Given the description of an element on the screen output the (x, y) to click on. 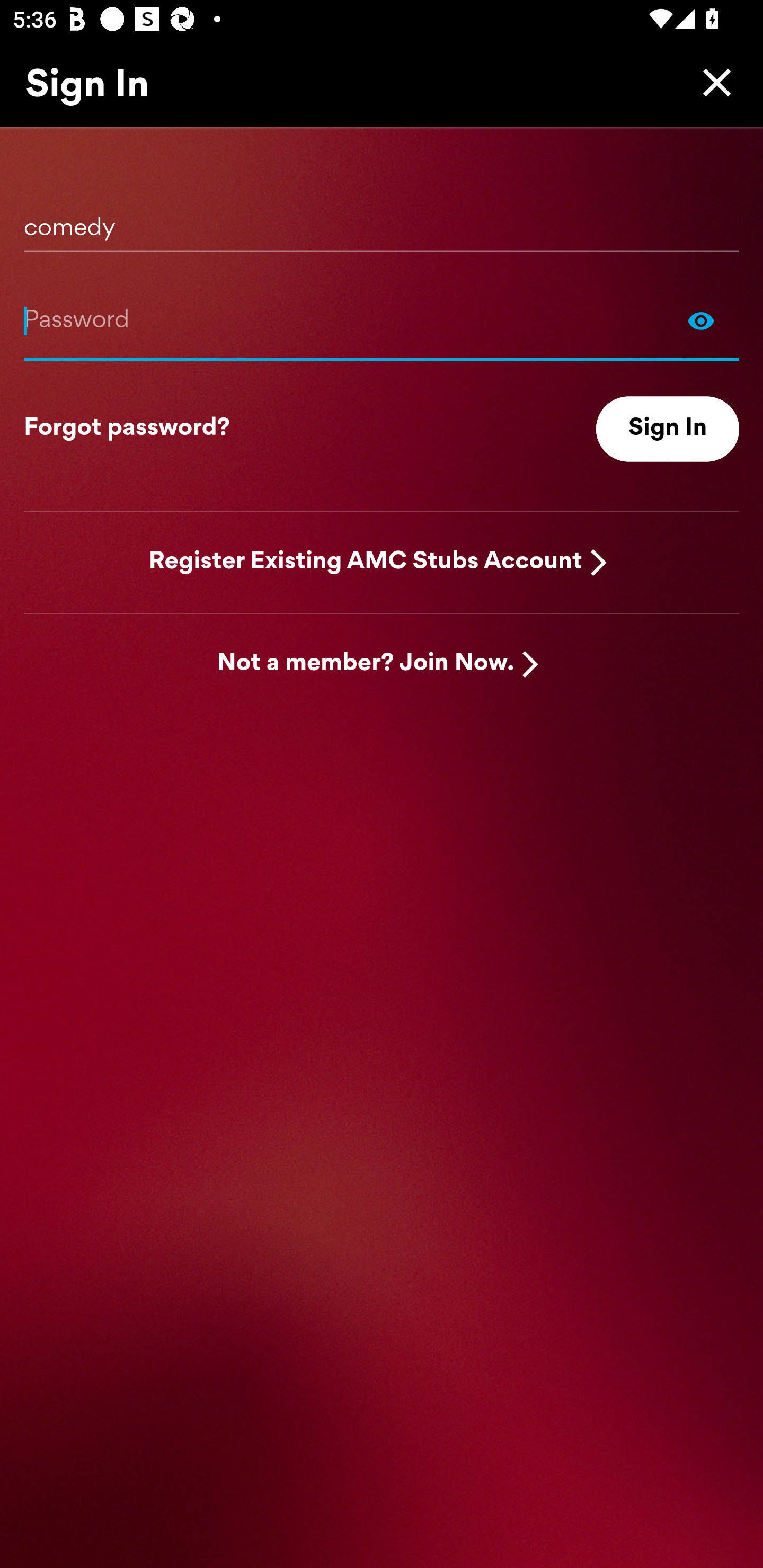
Close (712, 82)
comedy (381, 220)
Show Password (381, 320)
Show Password (701, 320)
Forgot password? (126, 428)
Sign In (667, 428)
Register Existing AMC Stubs Account (365, 561)
Not a member? Join Now. (365, 663)
